Given the description of an element on the screen output the (x, y) to click on. 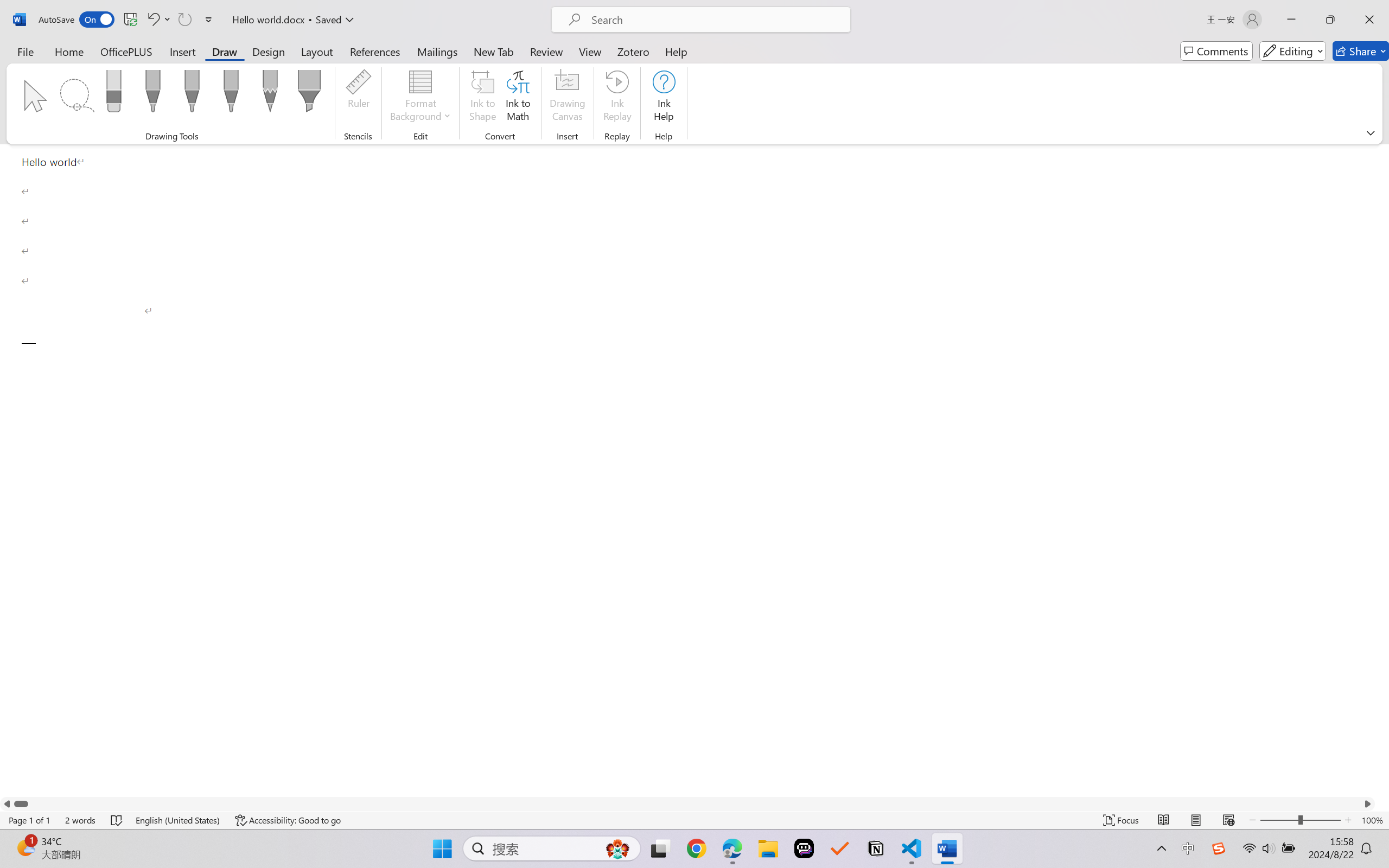
Design (268, 51)
Quick Access Toolbar (127, 19)
Zotero (632, 51)
Page Number Page 1 of 1 (29, 819)
Pencil: Gray, 1 mm (270, 94)
Editing (1292, 50)
Pen: Galaxy, 1 mm (230, 94)
Accessibility Checker Accessibility: Good to go (288, 819)
Word Count 2 words (80, 819)
Zoom In (1348, 819)
More Options (167, 19)
Column left (6, 803)
Insert (182, 51)
Zoom Out (1278, 819)
